Given the description of an element on the screen output the (x, y) to click on. 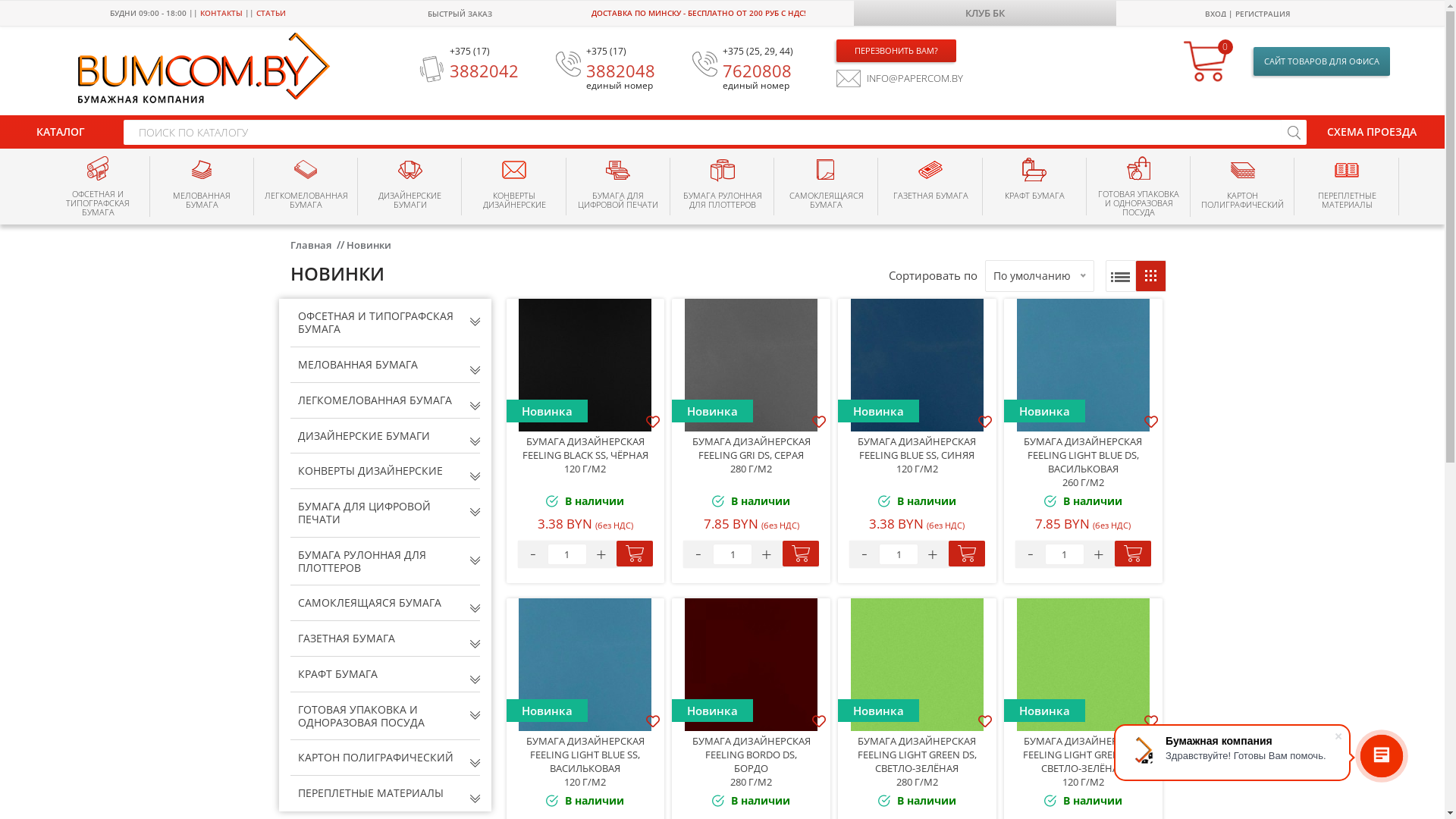
INFO@PAPERCOM.BY Element type: text (898, 78)
0 Element type: text (1207, 61)
